Given the description of an element on the screen output the (x, y) to click on. 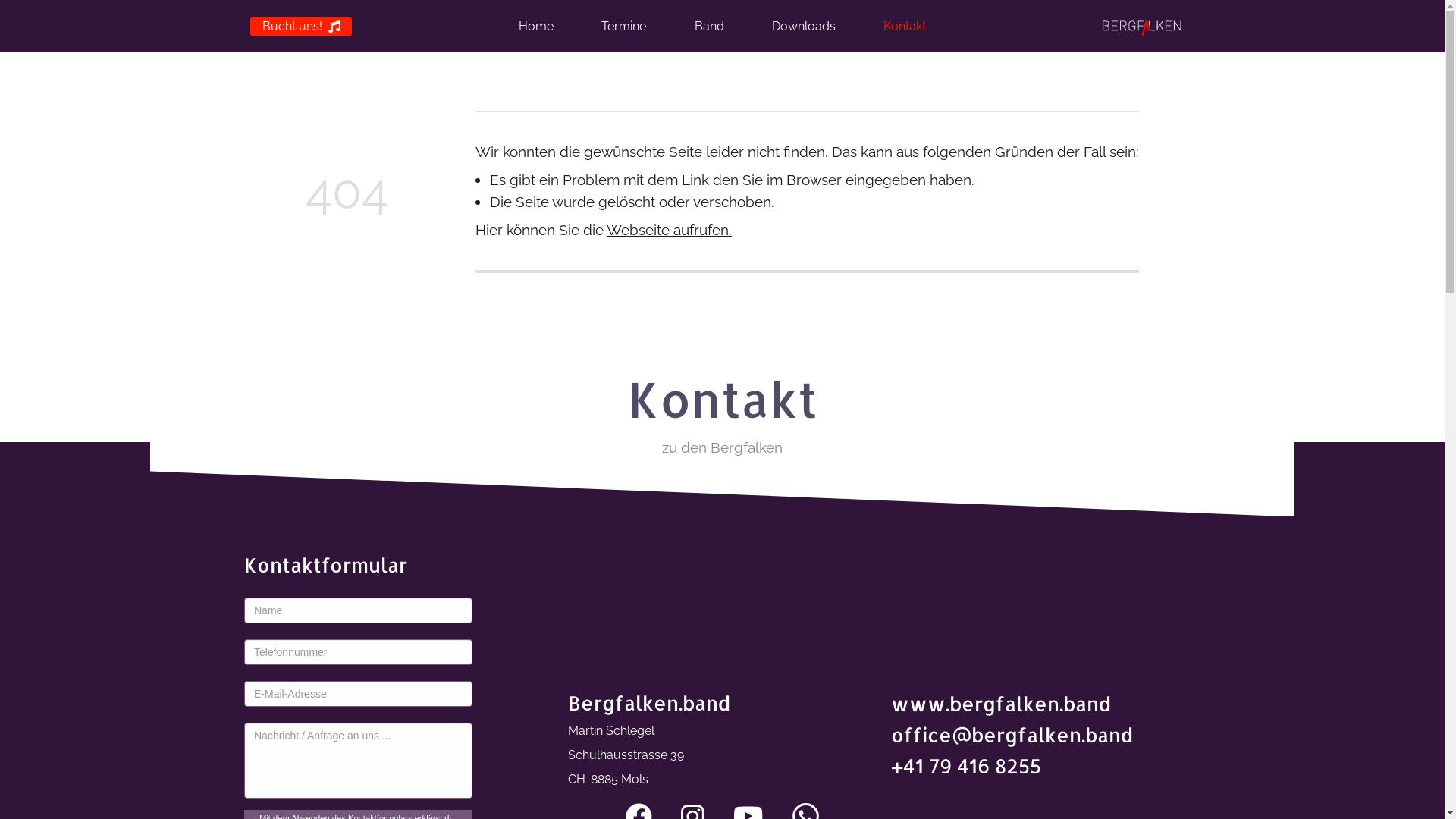
www.bergfalken.band Element type: text (1000, 703)
Webseite aufrufen. Element type: text (668, 229)
+41 79 416 8255 Element type: text (966, 765)
Bucht uns! Element type: text (300, 26)
Kontakt Element type: text (904, 27)
Bergfalken - die Tanzband Element type: hover (1142, 26)
Band Element type: text (709, 26)
Home Element type: text (535, 26)
Termine Element type: text (623, 26)
office@bergfalken.band Element type: text (1011, 734)
Downloads Element type: text (803, 26)
